Given the description of an element on the screen output the (x, y) to click on. 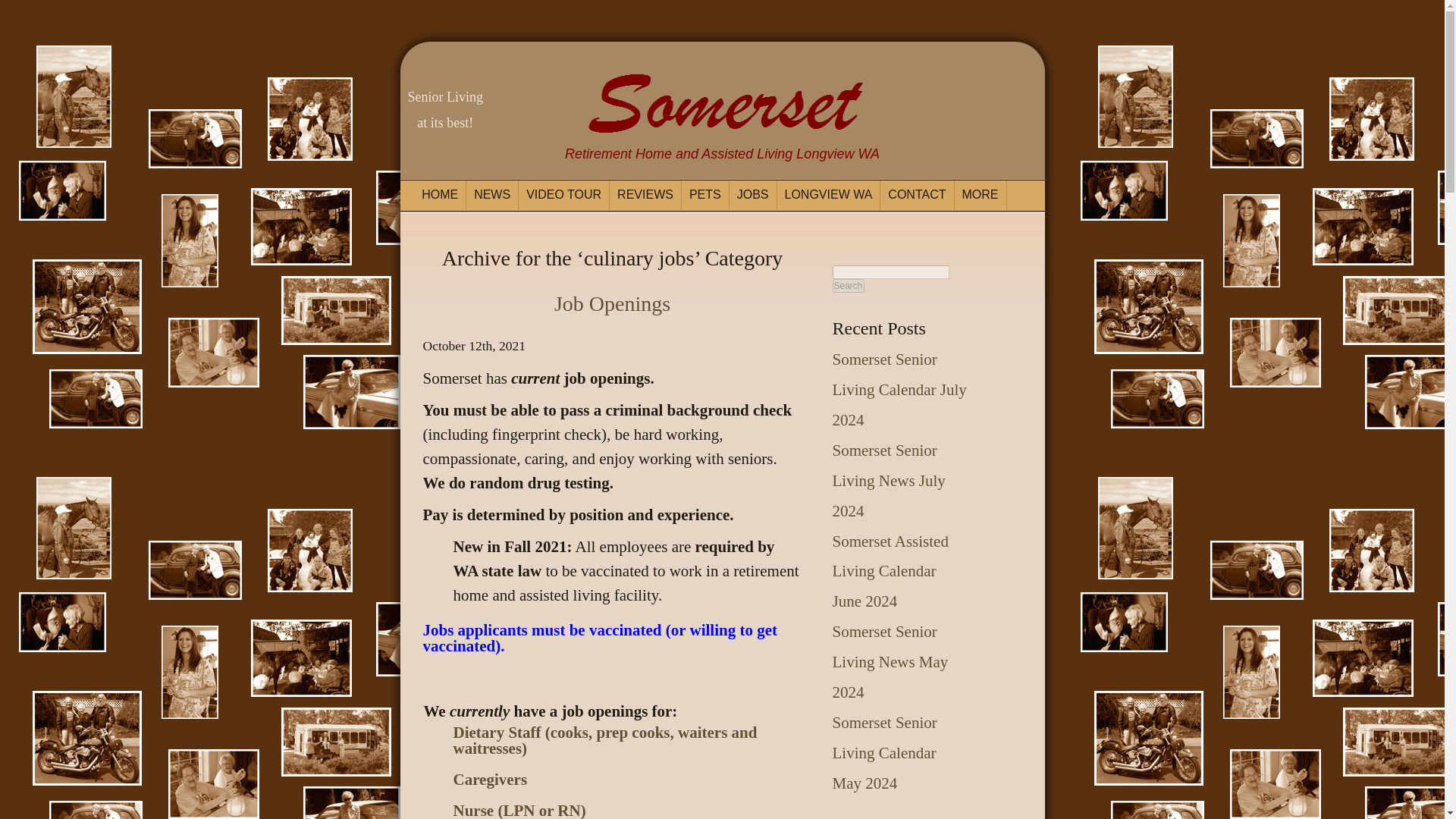
Contact Somerset (916, 194)
Job Openings (611, 303)
Somerset Senior News (491, 194)
REVIEWS (645, 194)
Somerset Homepage (439, 194)
More About Somerset (979, 194)
CONTACT (916, 194)
Video Tour of Somerset (564, 194)
HOME (439, 194)
About Longview WA (828, 194)
JOBS (753, 194)
Search (848, 285)
MORE (979, 194)
LONGVIEW WA (828, 194)
NEWS (491, 194)
